Given the description of an element on the screen output the (x, y) to click on. 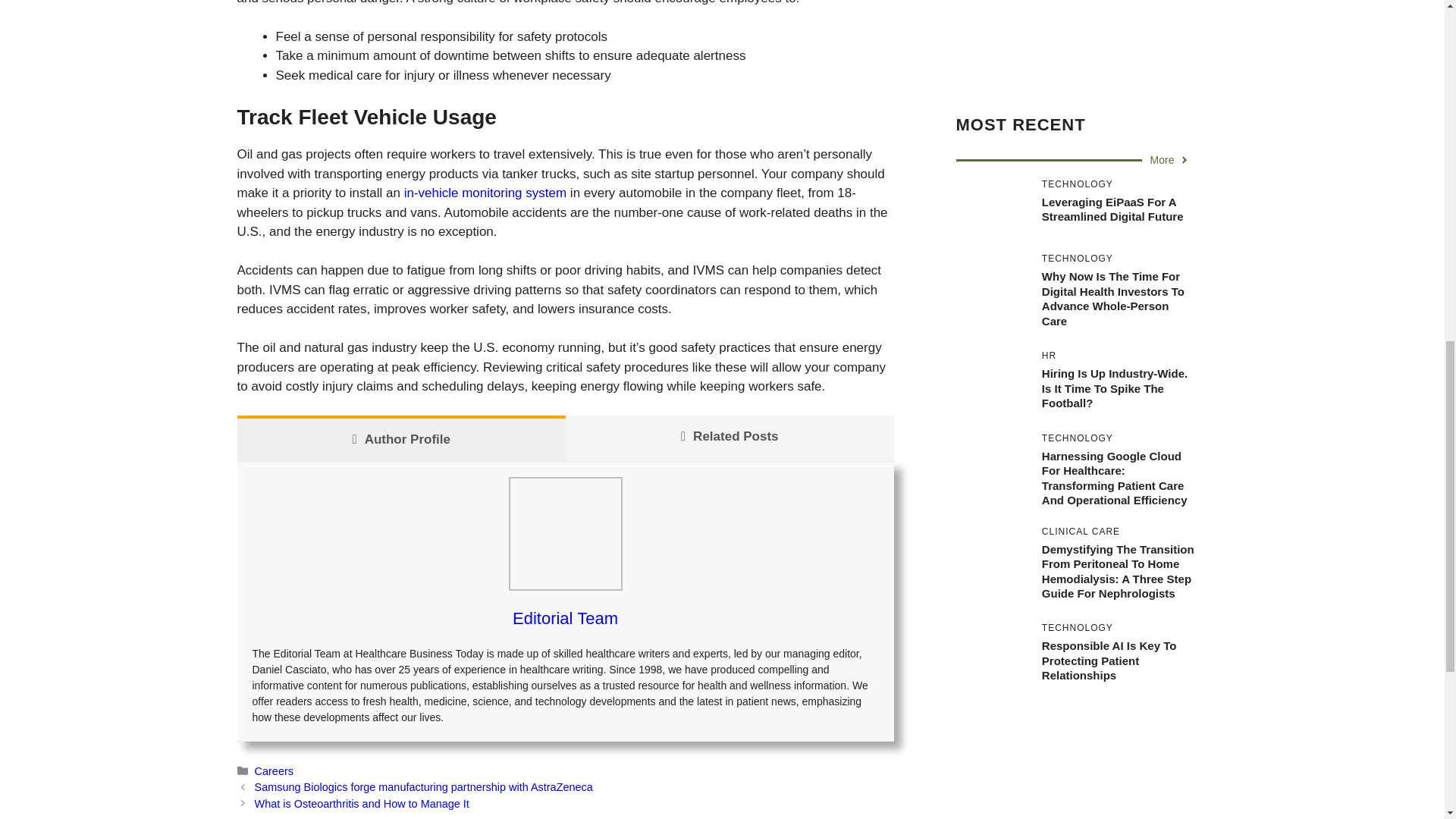
Editorial Team (564, 618)
What is Osteoarthritis and How to Manage It (361, 803)
Essential Safety Programs for Oil and Gas Workers 1 (564, 533)
Careers (274, 770)
in-vehicle monitoring system (485, 192)
